Given the description of an element on the screen output the (x, y) to click on. 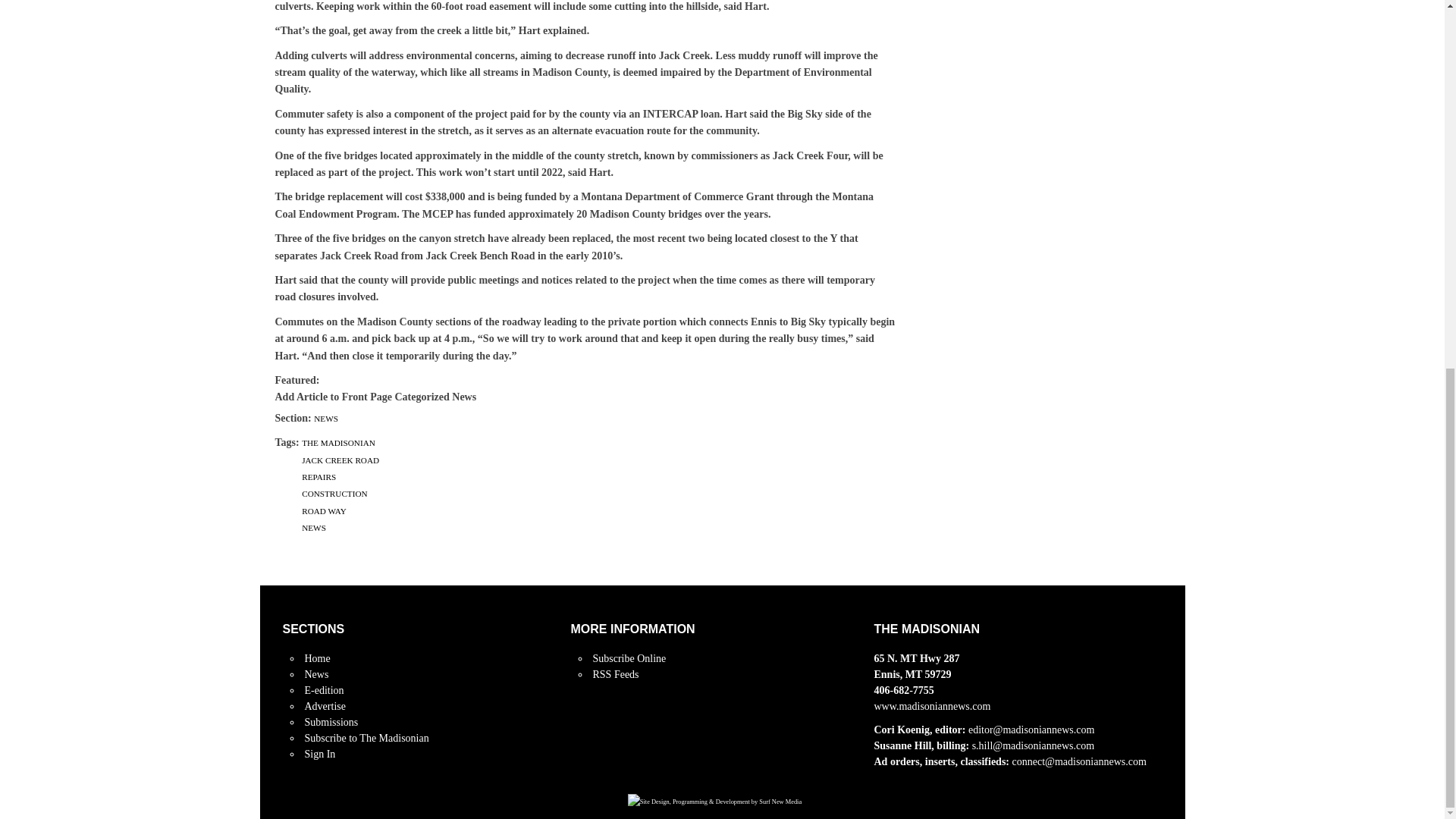
NEWS (313, 527)
News (316, 674)
Home (317, 658)
NEWS (325, 418)
JACK CREEK ROAD (339, 459)
REPAIRS (318, 476)
CONSTRUCTION (333, 492)
THE MADISONIAN (338, 442)
ROAD WAY (323, 510)
